Given the description of an element on the screen output the (x, y) to click on. 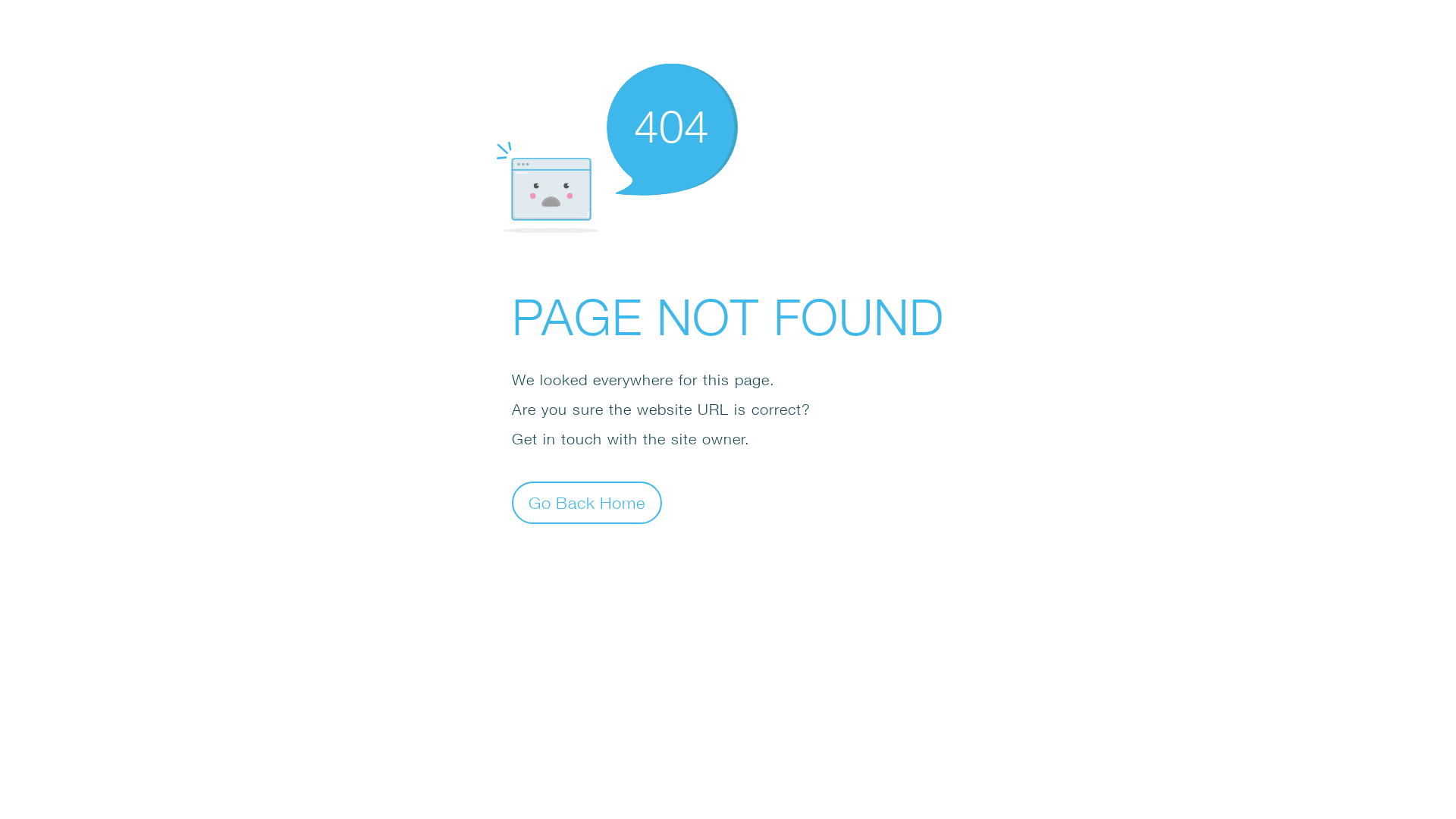
Go Back Home Element type: text (586, 502)
